Given the description of an element on the screen output the (x, y) to click on. 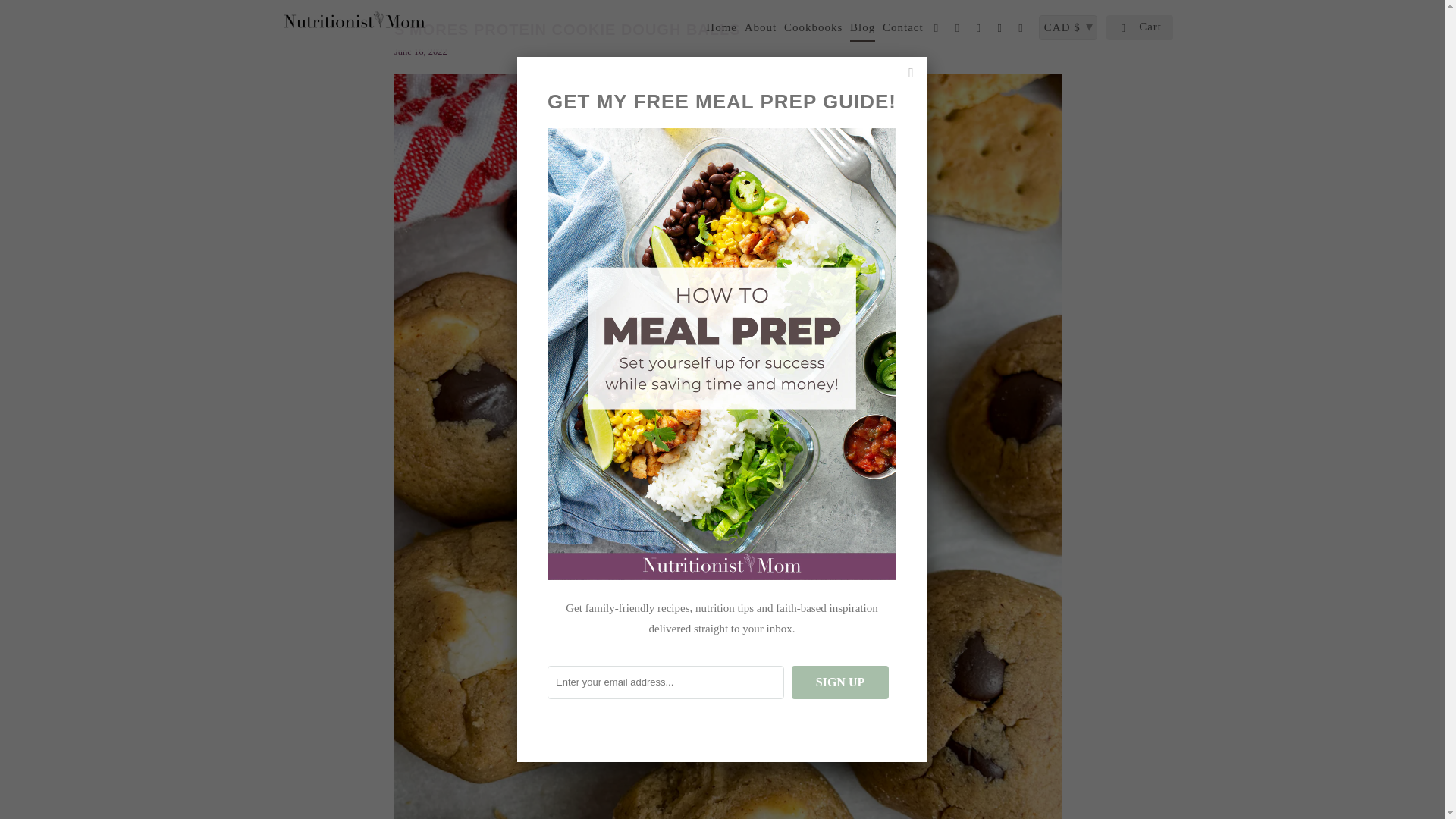
Sign Up (840, 682)
